Given the description of an element on the screen output the (x, y) to click on. 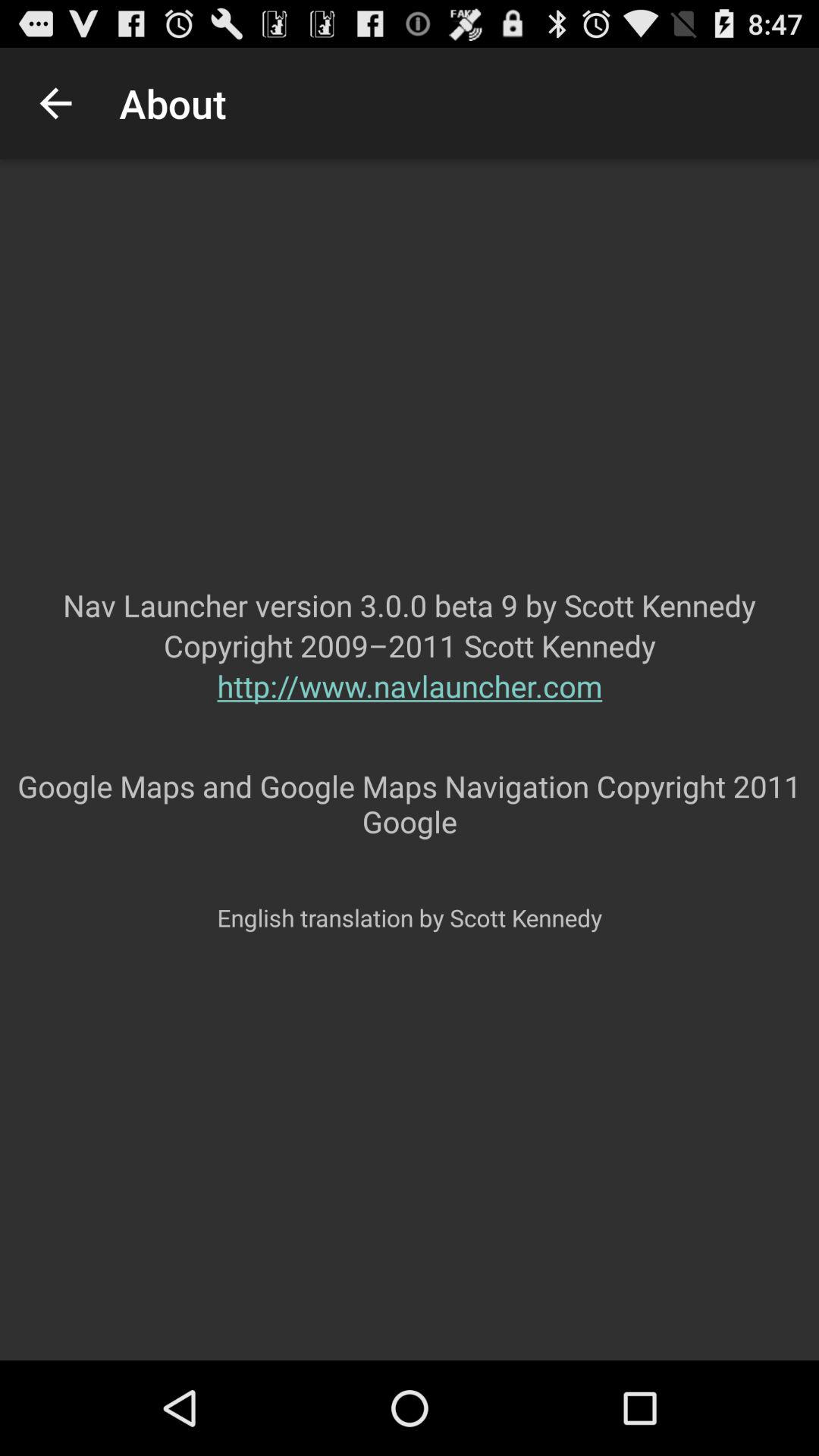
swipe to the http www navlauncher item (409, 716)
